Given the description of an element on the screen output the (x, y) to click on. 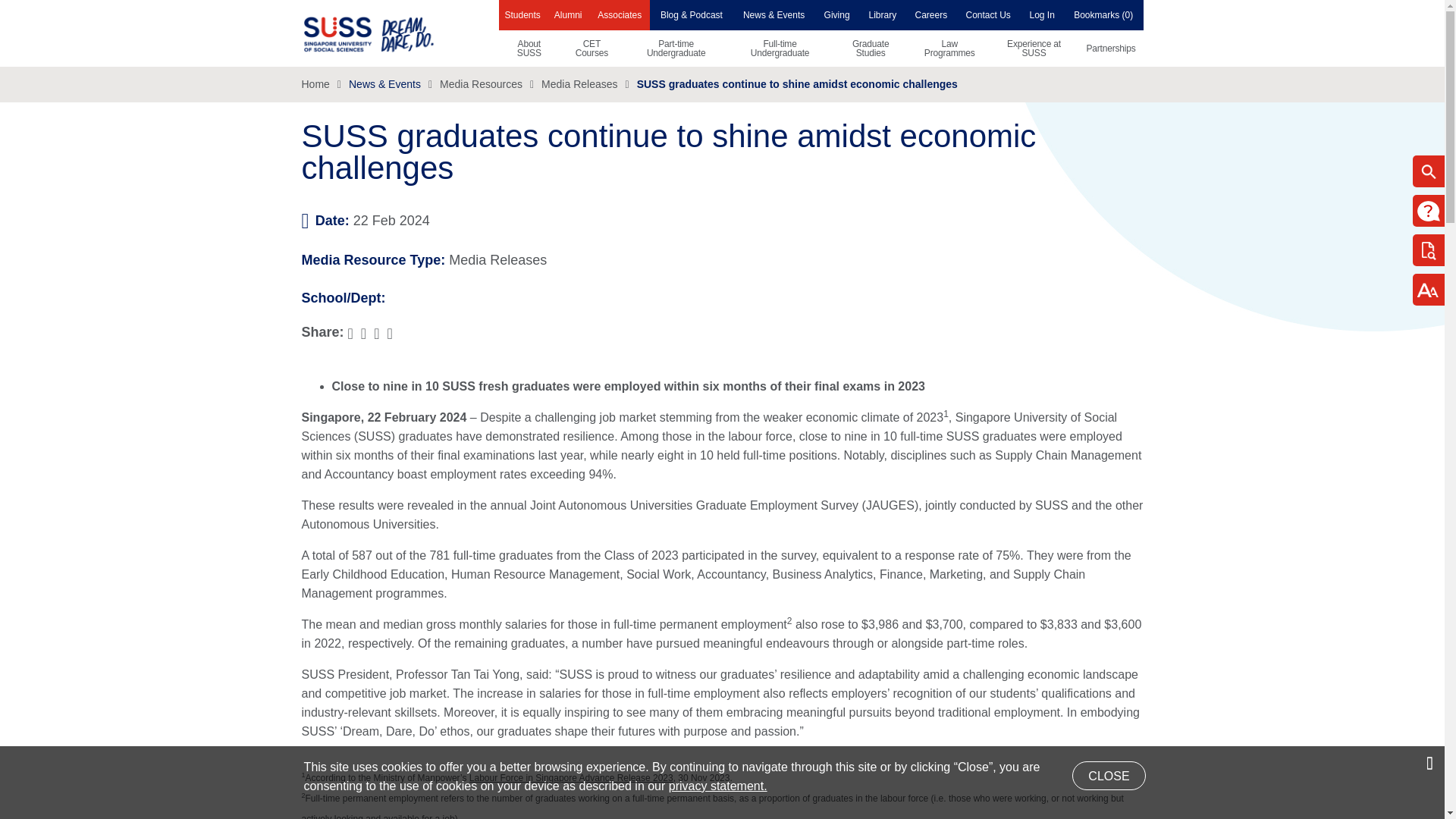
About SUSS (529, 48)
About SUSS (529, 48)
Singapore University of Social Sciences (394, 33)
